Given the description of an element on the screen output the (x, y) to click on. 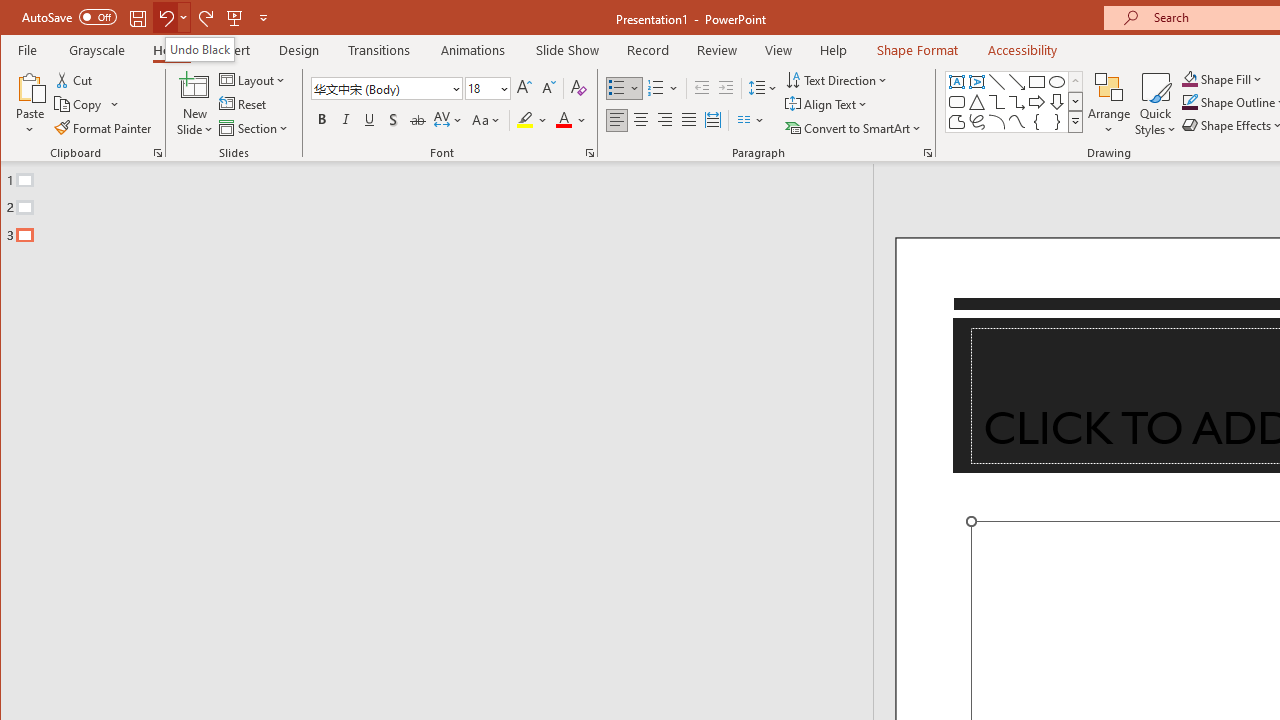
New Slide (195, 86)
Format Painter (104, 127)
Copy (87, 103)
Grayscale (97, 50)
Arrange (1108, 104)
Decrease Indent (701, 88)
Italic (346, 119)
Connector: Elbow (996, 102)
Numbering (663, 88)
Curve (1016, 121)
Row Down (1074, 101)
Arrow: Right (1036, 102)
Right Brace (1057, 121)
